Given the description of an element on the screen output the (x, y) to click on. 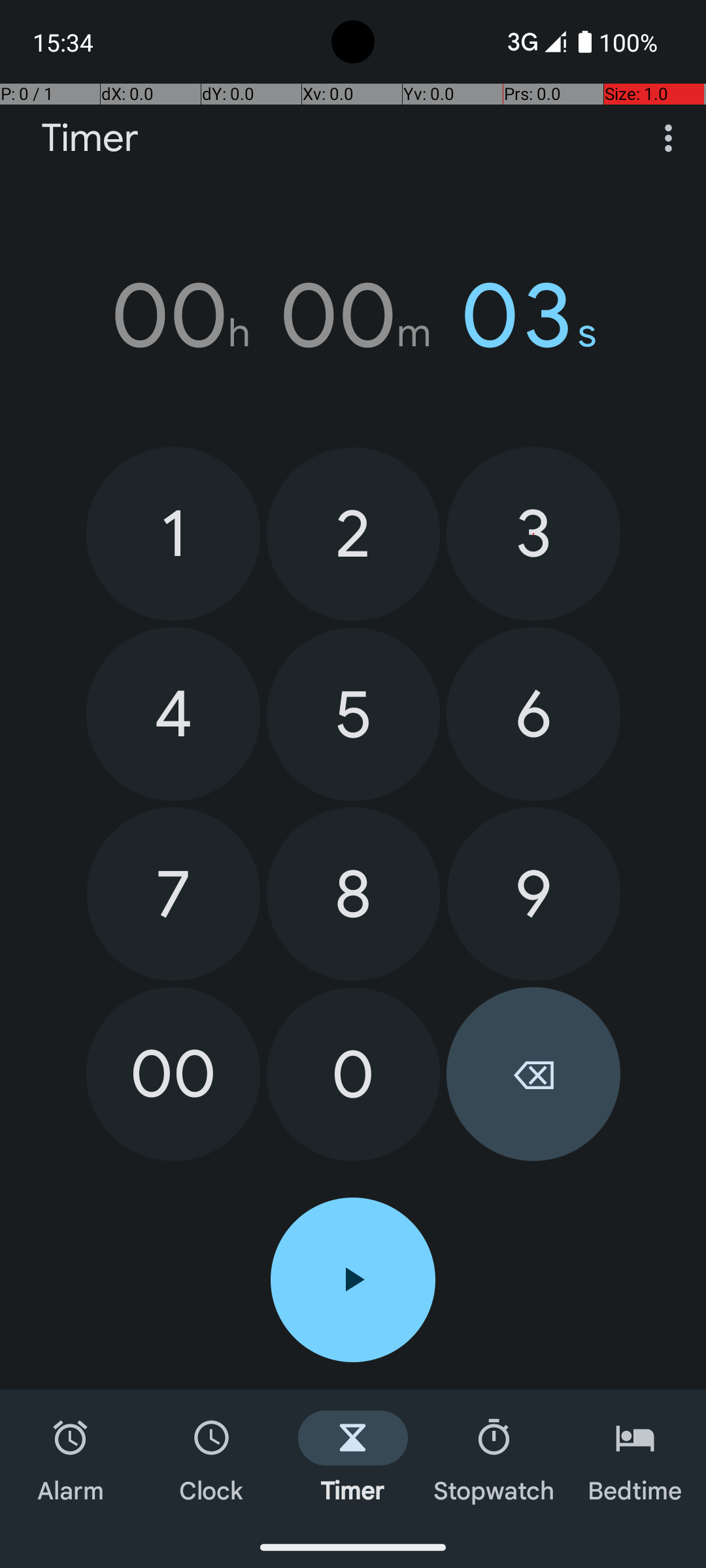
00h 00m 03s Element type: android.widget.TextView (353, 315)
